Given the description of an element on the screen output the (x, y) to click on. 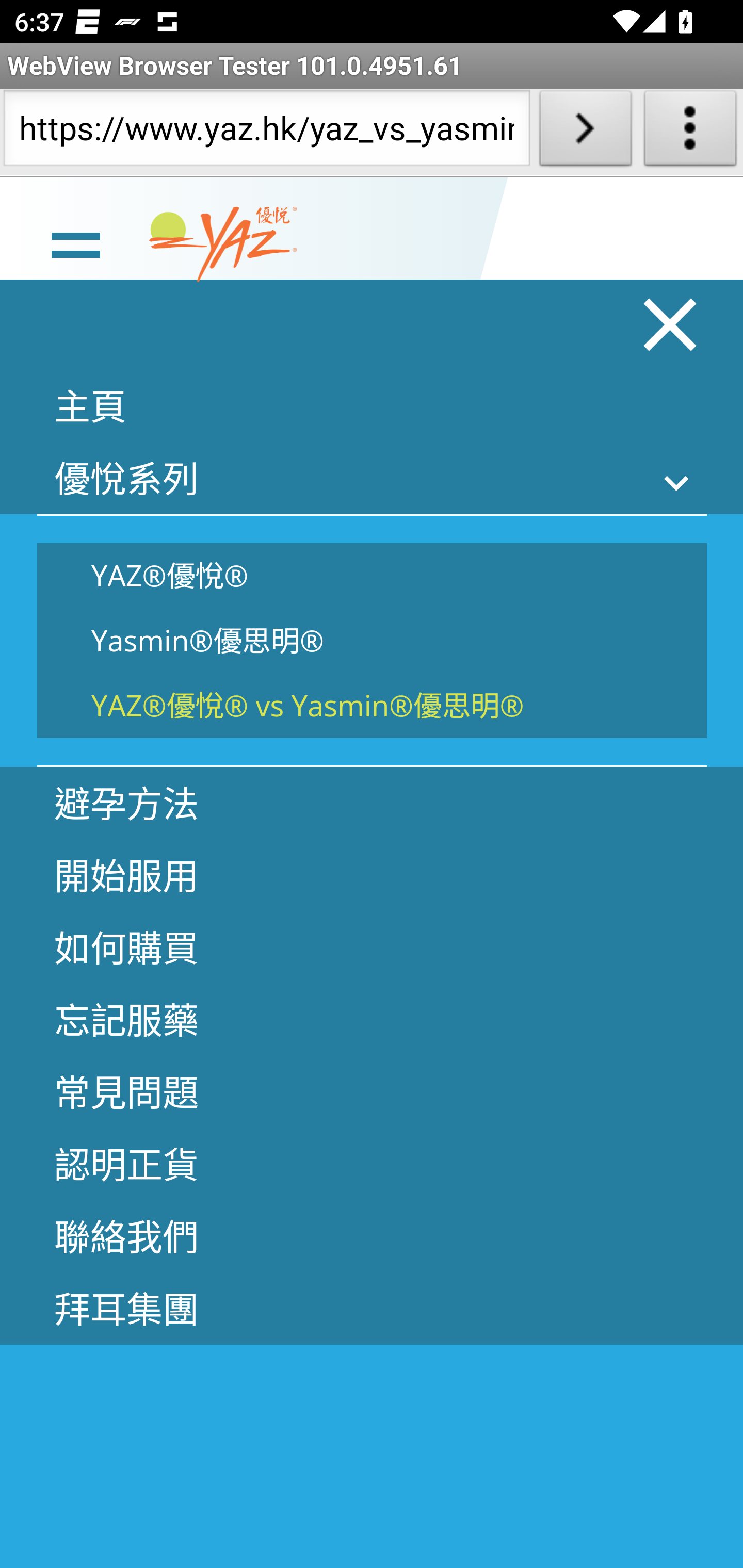
Load URL (585, 132)
About WebView (690, 132)
www.yaz (222, 244)
line Toggle burger menu (75, 242)
 Close burger menu (670, 323)
主頁 (371, 405)
優悅系列 (371, 477)
Toggle sub menu (677, 481)
YAZ®優悅® (372, 574)
Yasmin®優思明® (372, 640)
YAZ®優悅® vs Yasmin®優思明® (372, 704)
避孕方法 (371, 802)
開始服用 (371, 874)
如何購買 (371, 946)
忘記服藥 (371, 1018)
常見問題 (371, 1090)
認明正貨 (371, 1163)
聯絡我們 (371, 1235)
拜耳集團 (371, 1308)
